Given the description of an element on the screen output the (x, y) to click on. 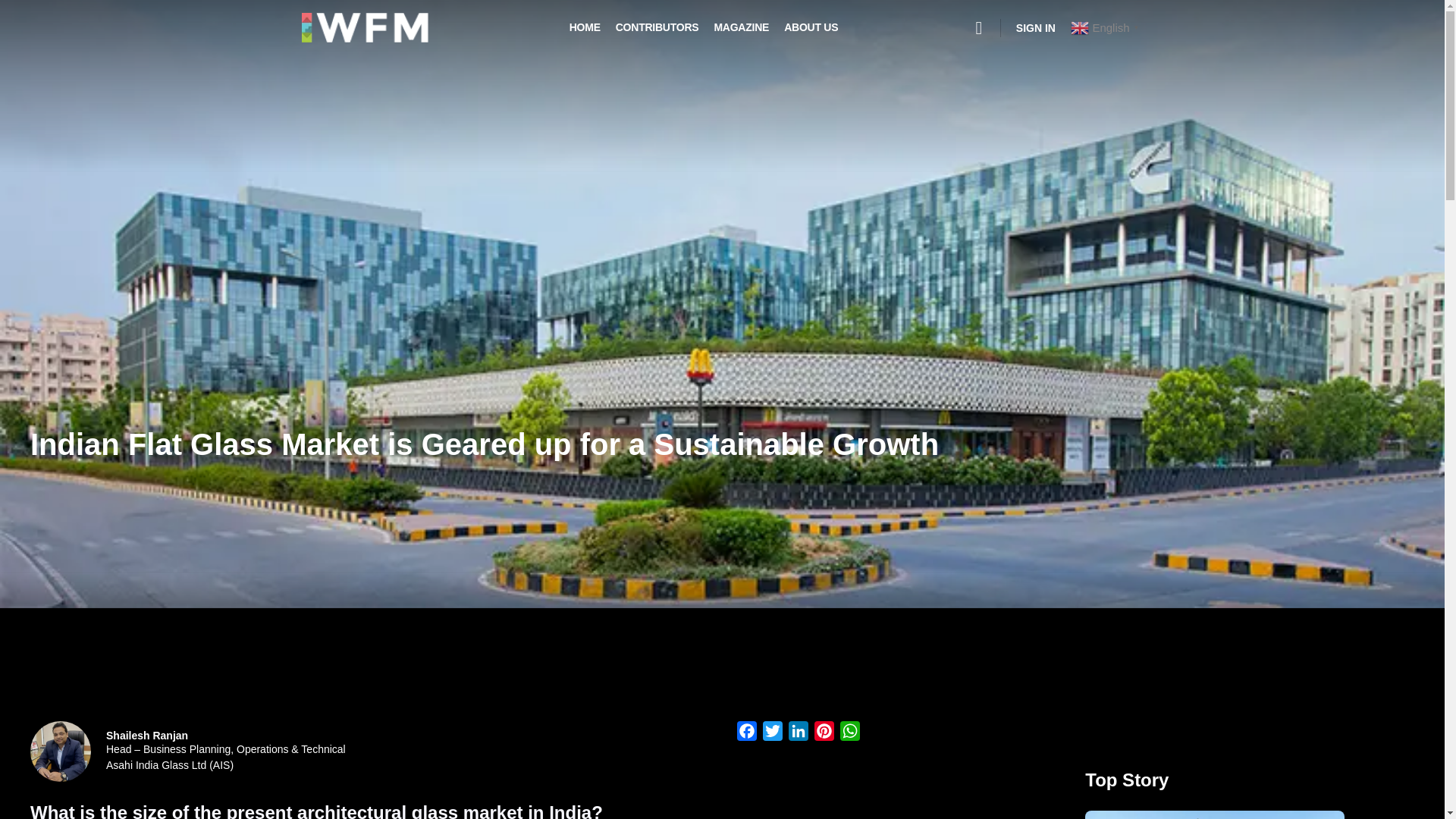
LinkedIn (798, 733)
WhatsApp (850, 733)
Twitter (773, 733)
Twitter (773, 733)
MAGAZINE (740, 27)
Pinterest (823, 733)
SIGN IN (1035, 27)
Facebook (746, 733)
Pinterest (823, 733)
LinkedIn (798, 733)
WhatsApp (850, 733)
HOME (584, 27)
CONTRIBUTORS (656, 27)
Facebook (746, 733)
ABOUT US (811, 27)
